Given the description of an element on the screen output the (x, y) to click on. 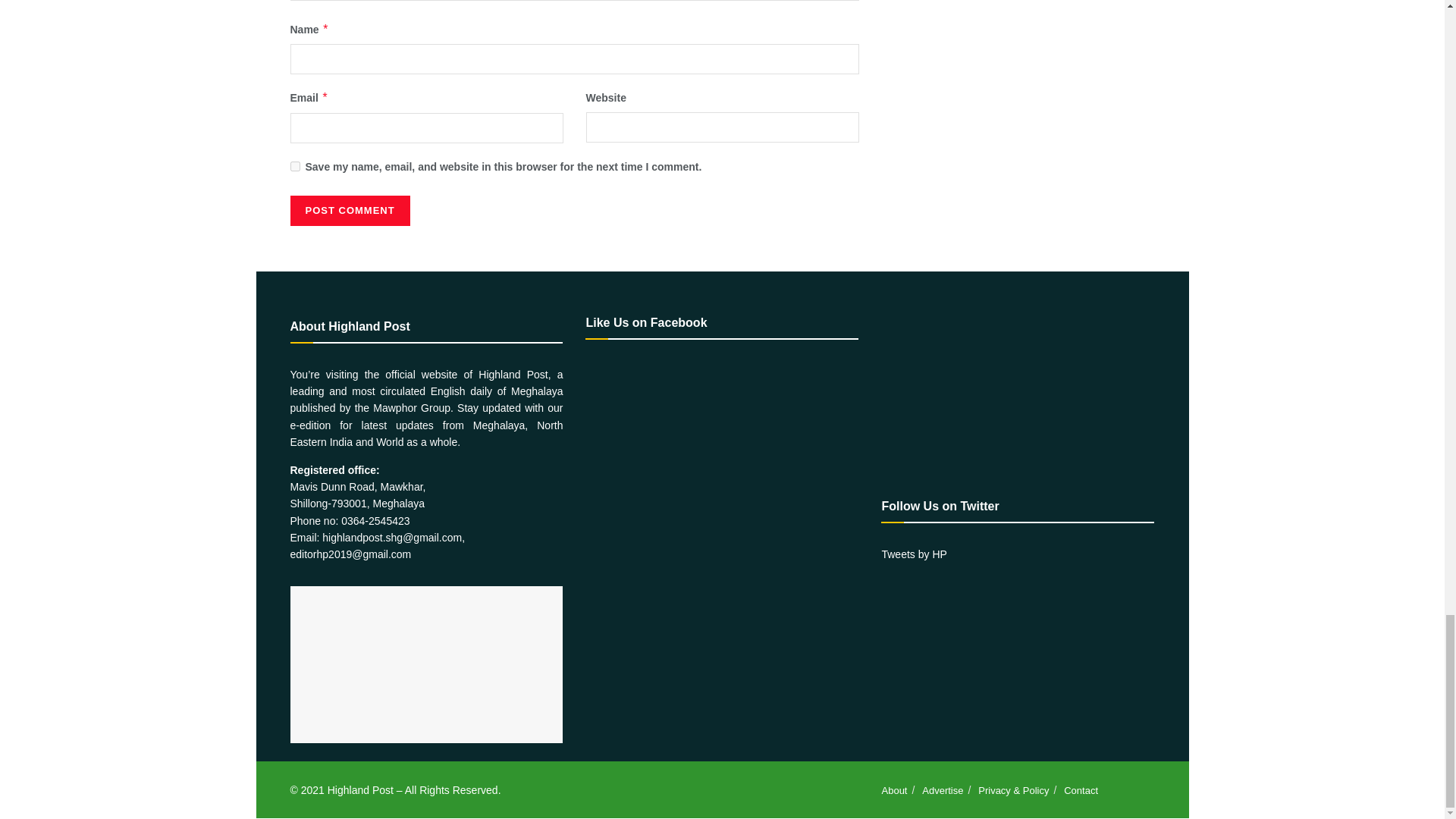
yes (294, 166)
Post Comment (349, 210)
